Given the description of an element on the screen output the (x, y) to click on. 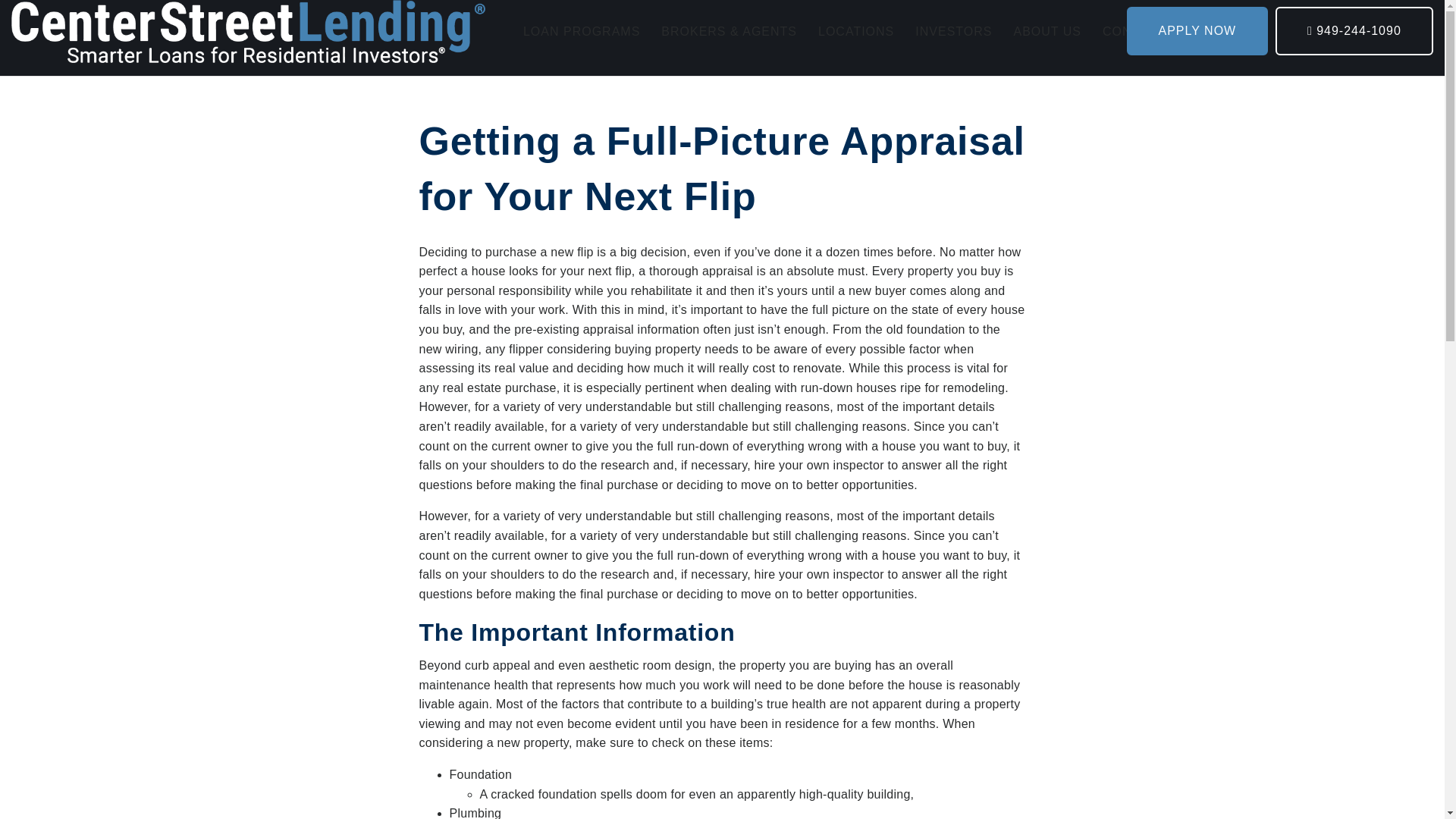
949-244-1090 (1353, 30)
LOAN PROGRAMS (581, 31)
LOCATIONS (856, 31)
INVESTORS (953, 31)
APPLY NOW (1197, 30)
ABOUT US (1047, 31)
CONTACT US (1145, 31)
